Given the description of an element on the screen output the (x, y) to click on. 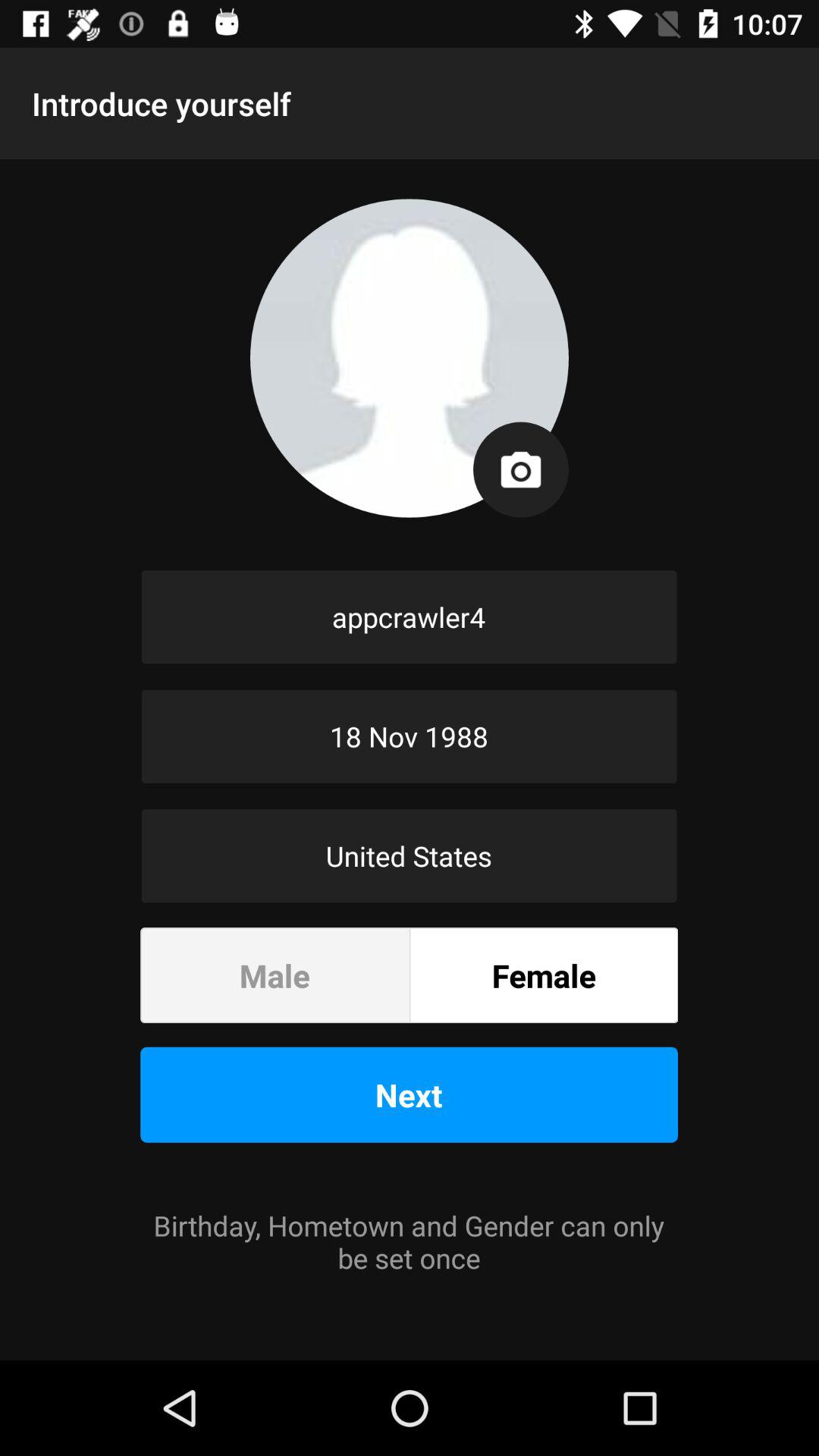
jump to the 18 nov 1988 item (408, 736)
